Given the description of an element on the screen output the (x, y) to click on. 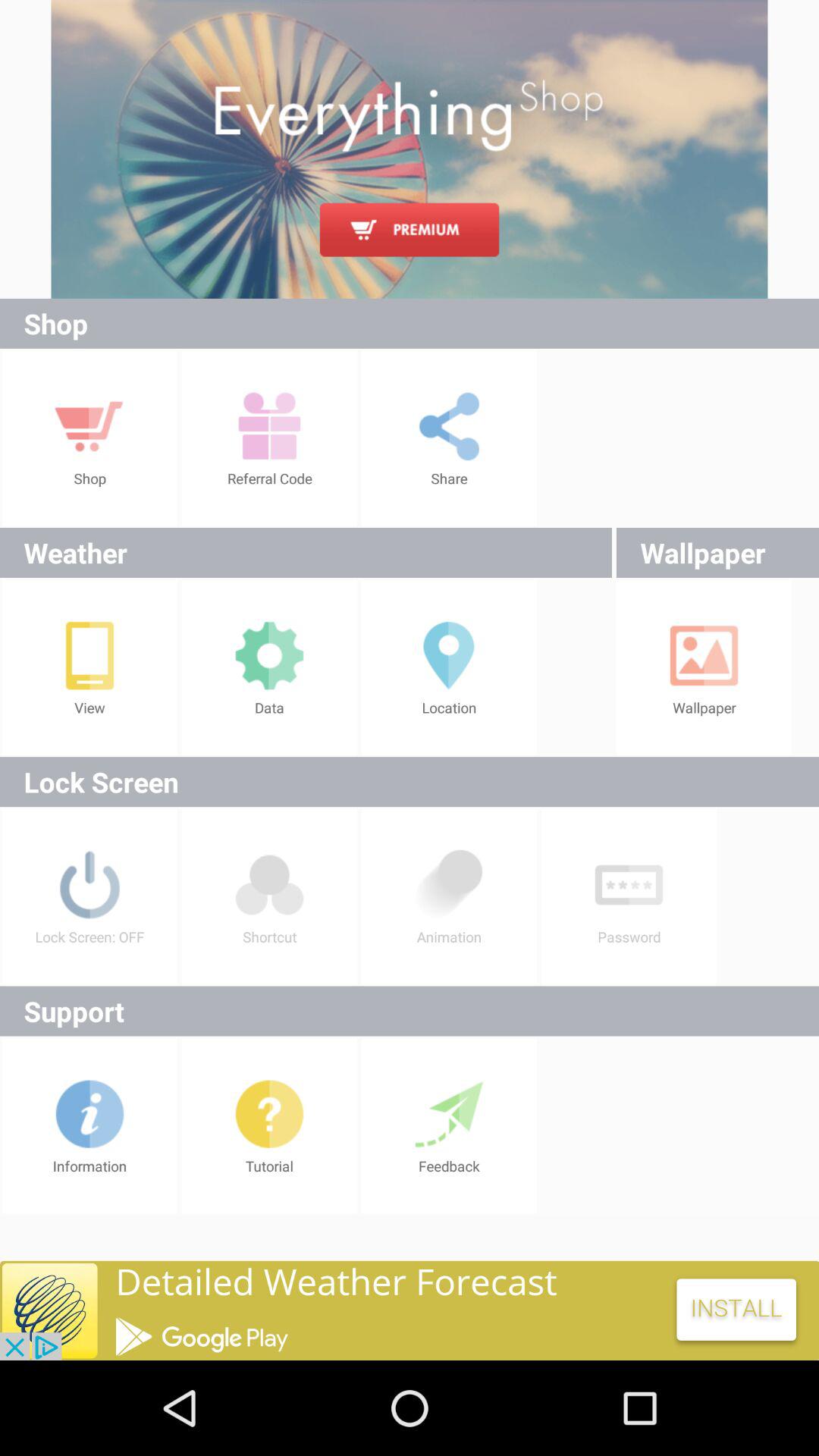
for adverisment (409, 149)
